Given the description of an element on the screen output the (x, y) to click on. 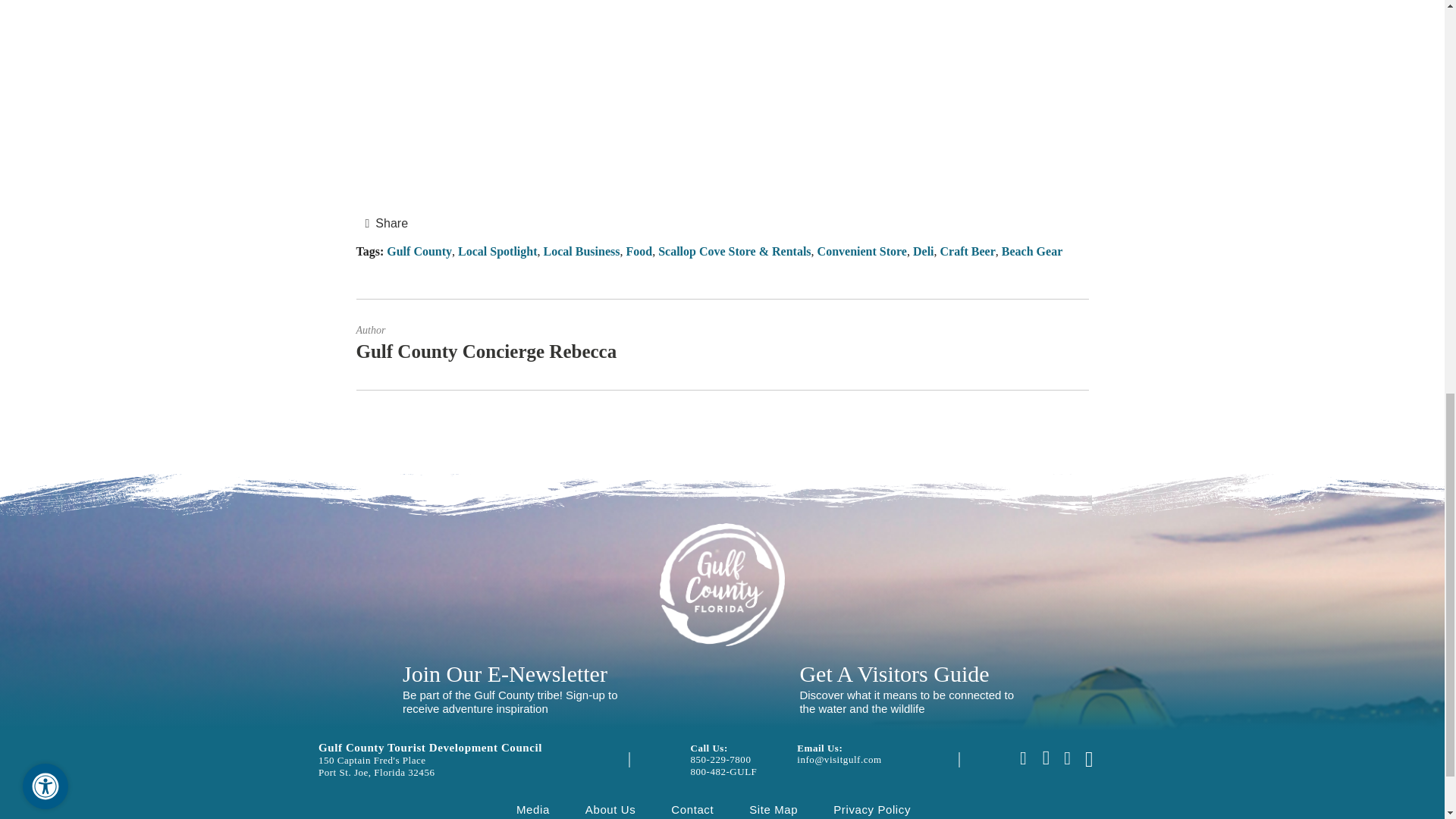
Site Map (773, 809)
Privacy Policy (871, 809)
About Us (610, 809)
Media (533, 809)
Contact (692, 809)
